Given the description of an element on the screen output the (x, y) to click on. 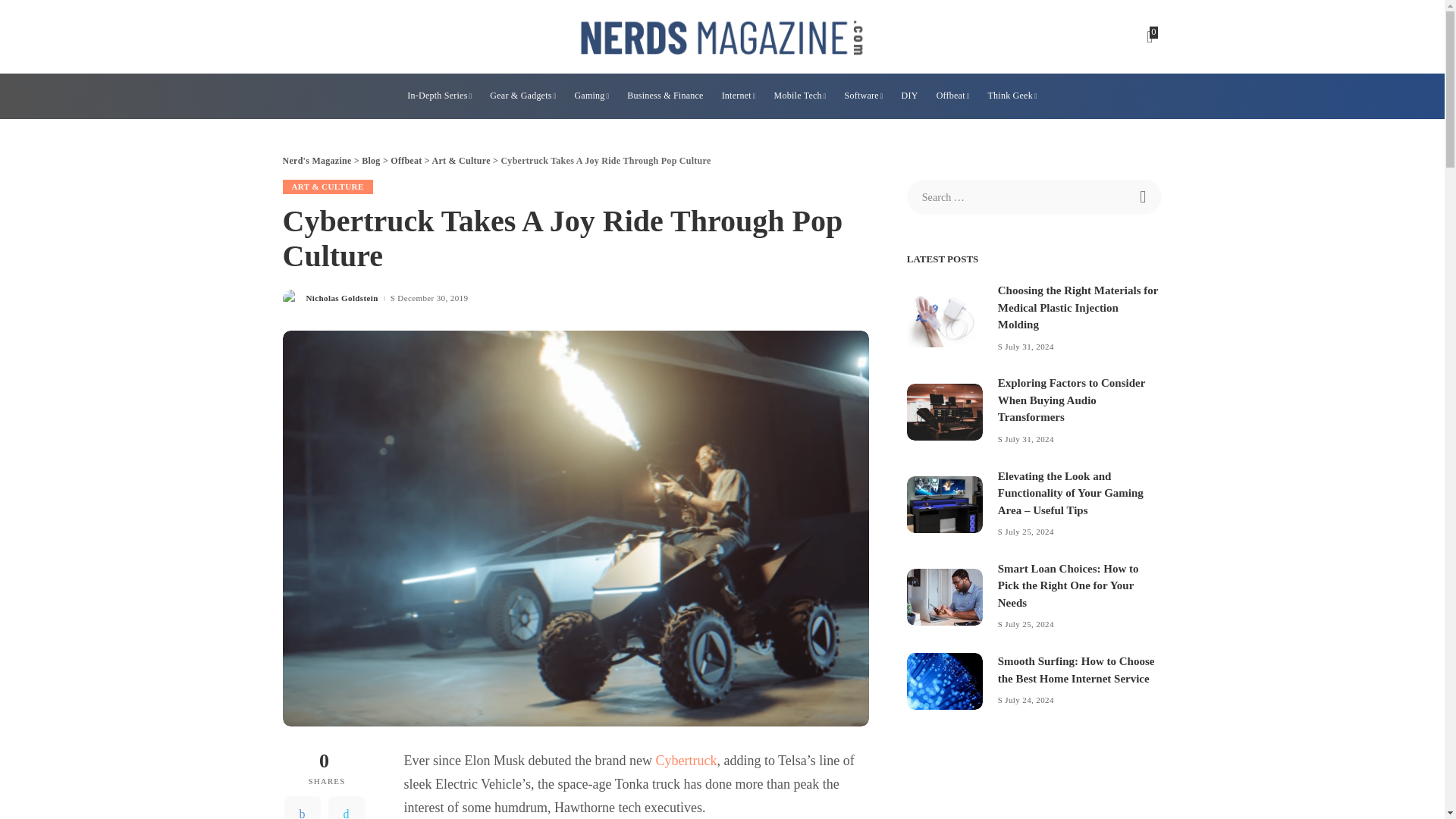
Go to the Offbeat Category archives. (406, 160)
Search (1143, 196)
Facebook (301, 807)
Go to Blog. (370, 160)
Go to Nerd's Magazine. (316, 160)
Gaming (590, 95)
Nerd's Magazine (722, 36)
In-Depth Series (438, 95)
2019-12-30T13:12:29-06:00 (432, 298)
Twitter (345, 807)
